Given the description of an element on the screen output the (x, y) to click on. 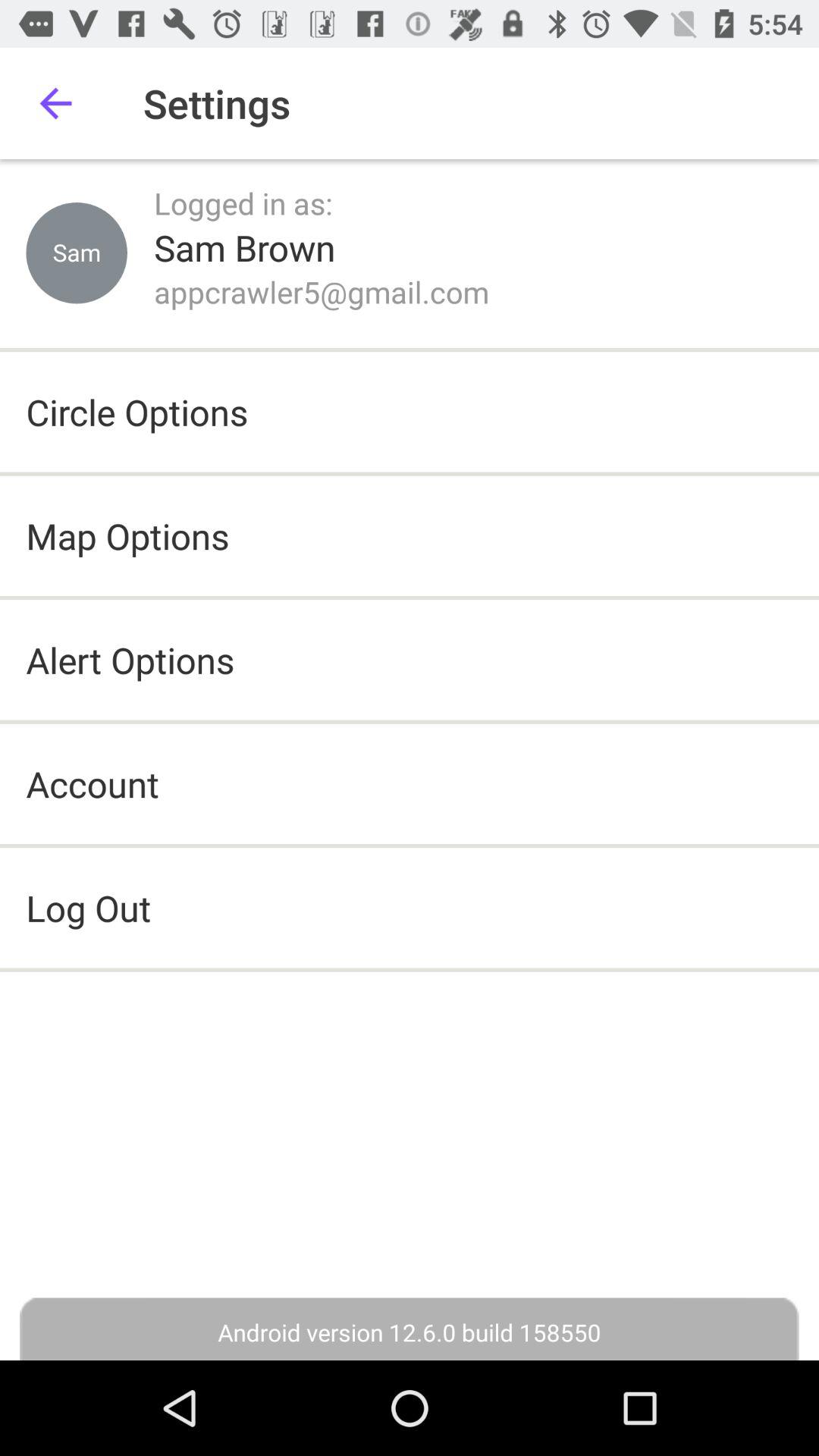
choose logged in as: (243, 203)
